Given the description of an element on the screen output the (x, y) to click on. 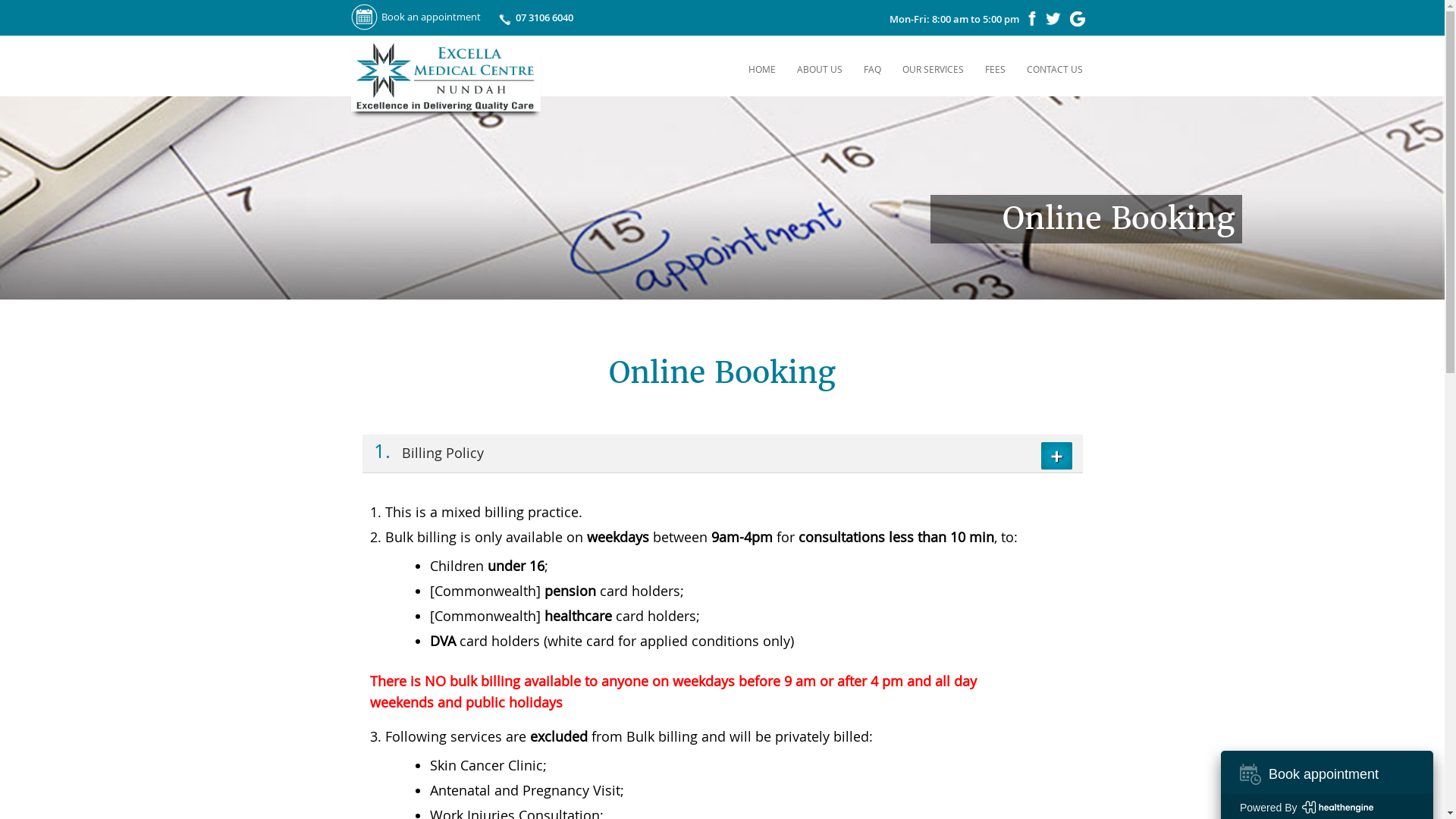
HOME Element type: text (761, 68)
ABOUT US Element type: text (819, 68)
FAQ Element type: text (872, 68)
CONTACT US Element type: text (1054, 68)
OUR SERVICES Element type: text (931, 68)
1. Billing Policy Element type: text (722, 453)
Book an appointment Element type: text (415, 16)
FEES Element type: text (995, 68)
